Given the description of an element on the screen output the (x, y) to click on. 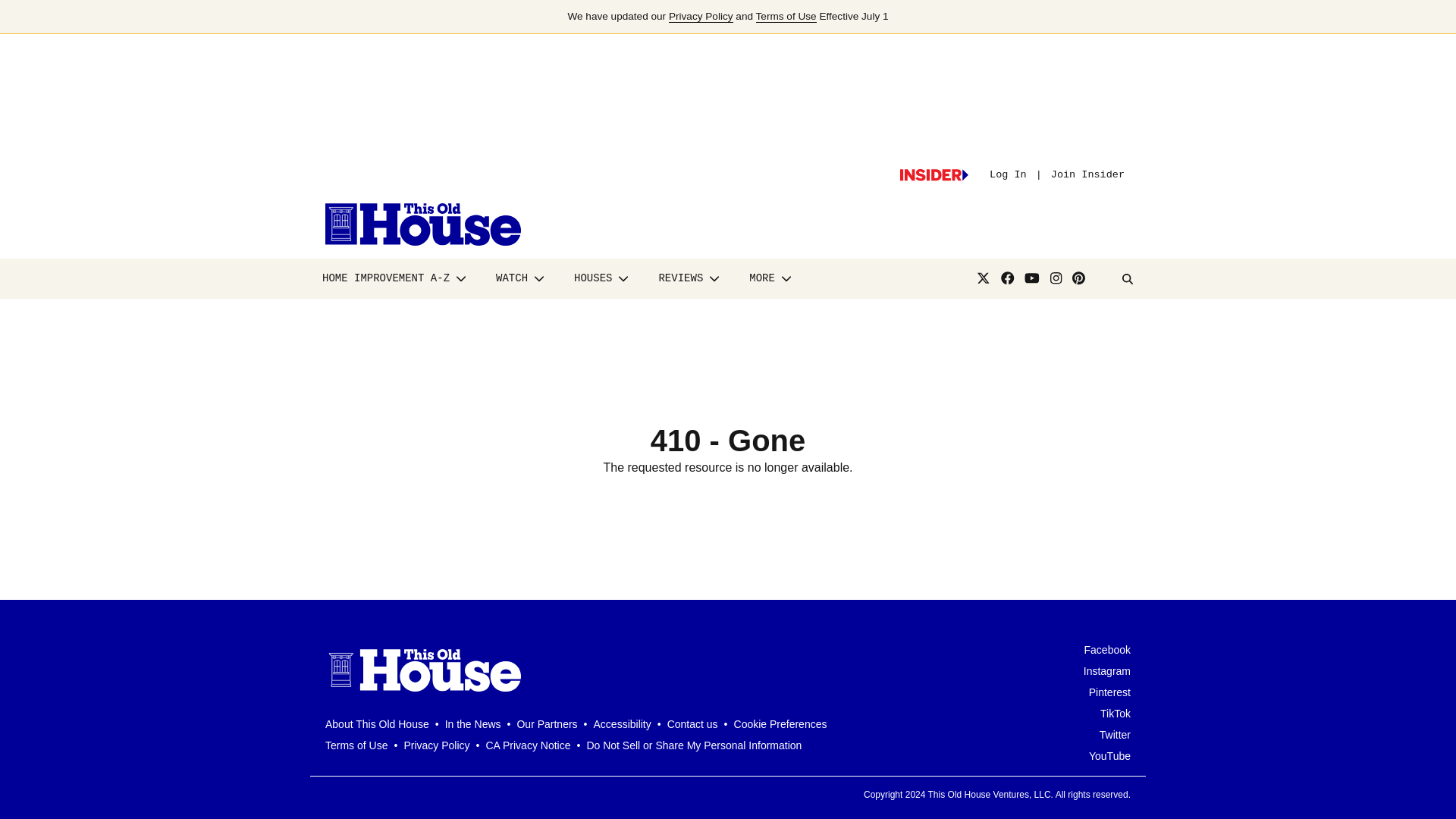
Log In (1008, 174)
Join Insider (1087, 174)
Terms of Use (785, 16)
Log in or sign up (933, 174)
Privacy Policy (700, 16)
